Given the description of an element on the screen output the (x, y) to click on. 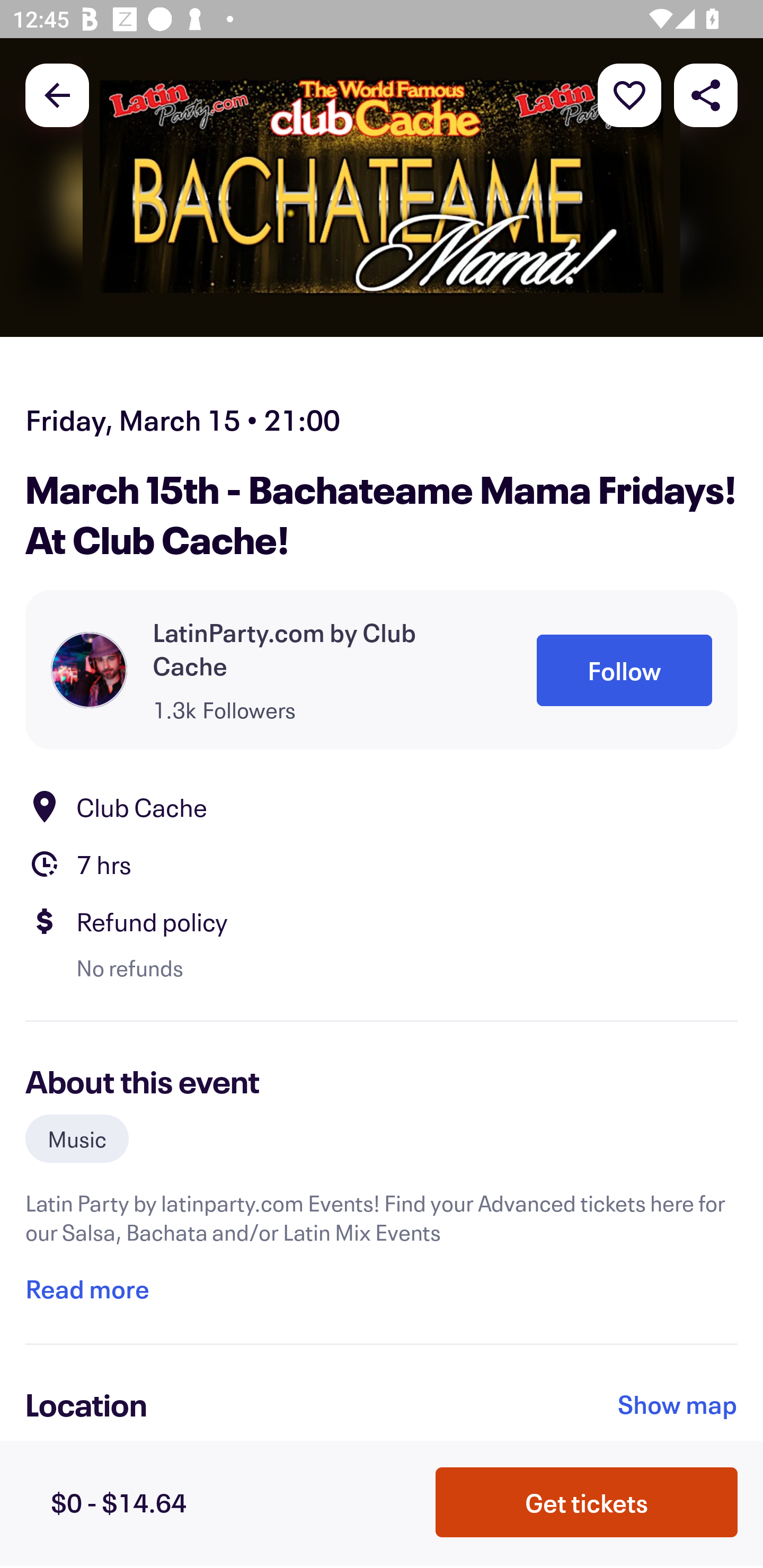
Back (57, 94)
More (629, 94)
Share (705, 94)
LatinParty.com by Club Cache (319, 648)
Organizer profile picture (89, 669)
Follow (623, 669)
Location Club Cache (381, 806)
Read more (87, 1288)
Show map (677, 1403)
Get tickets (586, 1500)
